Given the description of an element on the screen output the (x, y) to click on. 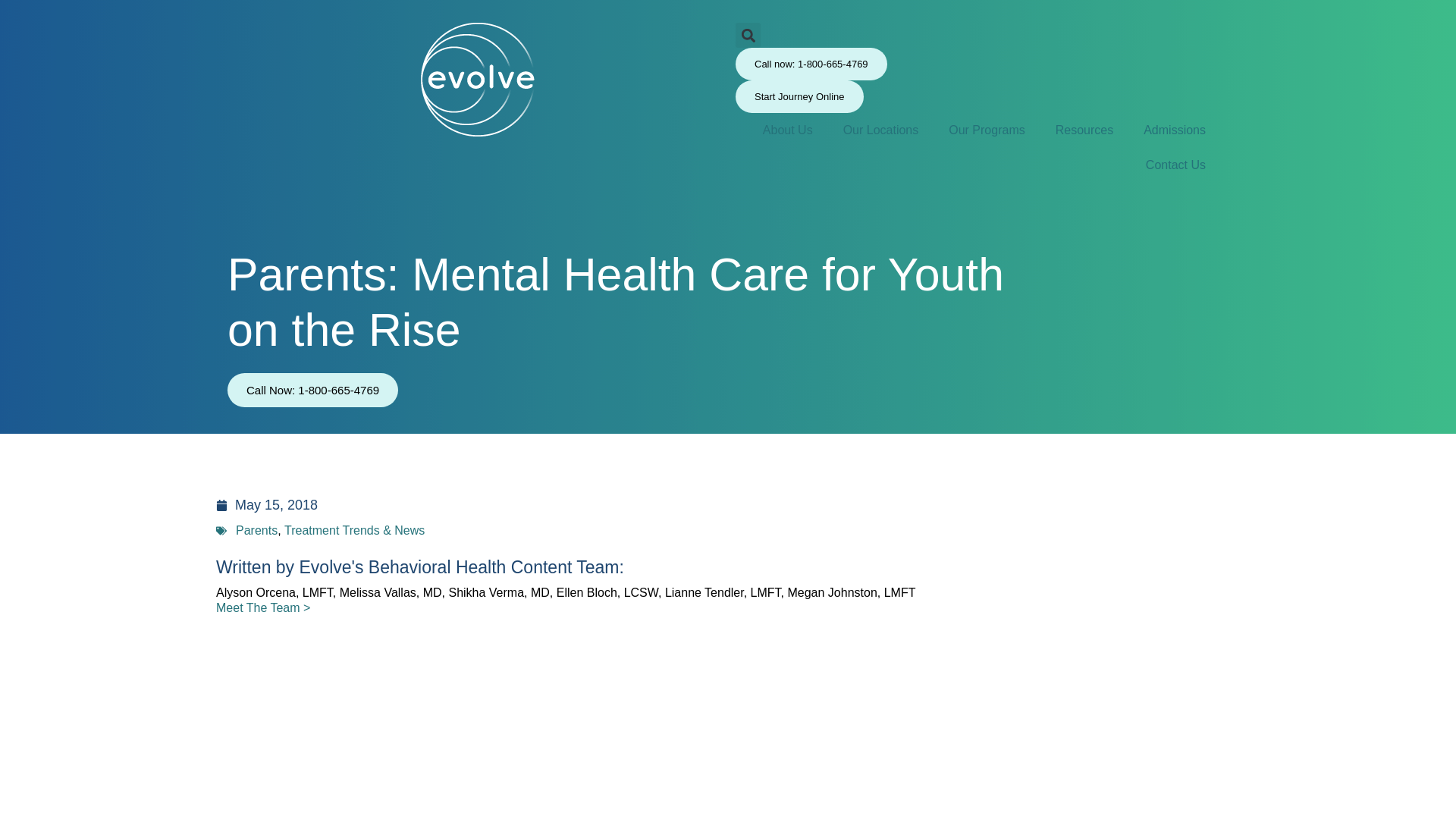
Our Locations (903, 130)
Start Journey Online (792, 96)
About Us (810, 130)
Call now: 1-800-665-4769 (803, 63)
